Given the description of an element on the screen output the (x, y) to click on. 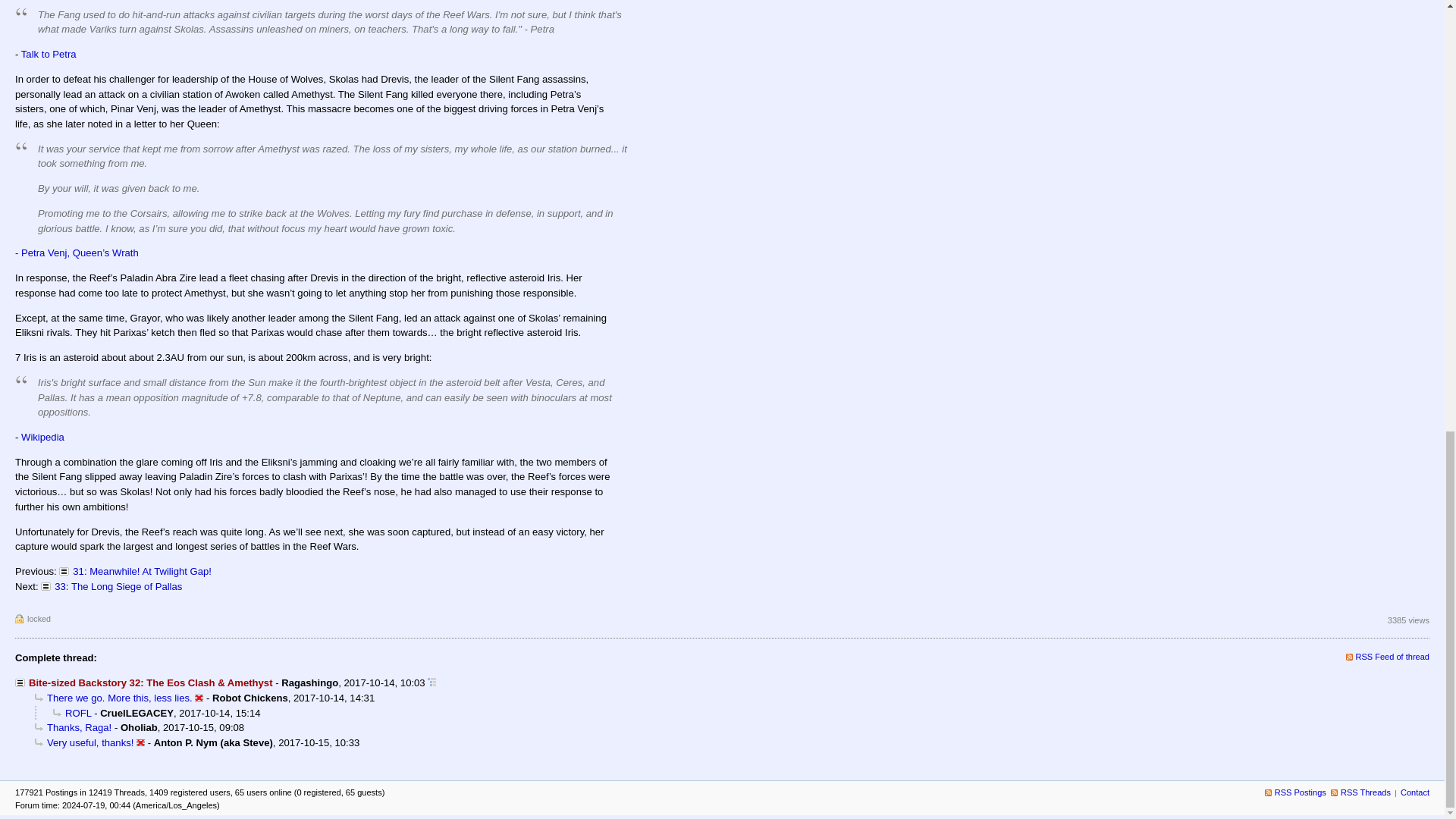
ROFL (71, 713)
Talk to Petra (49, 53)
RSS Postings (1295, 791)
Wikipedia (42, 437)
Open whole thread (431, 682)
There we go. More this, less lies. (113, 697)
33: The Long Siege of Pallas (111, 586)
RSS Feed of thread (1387, 655)
Open whole thread (431, 682)
Very useful, thanks! (83, 742)
Contact (1414, 791)
Thanks, Raga! (73, 727)
RSS Feed of thread starting postings only (1360, 791)
RSS Threads (1360, 791)
E-mail to the forum administrator (1414, 791)
